Given the description of an element on the screen output the (x, y) to click on. 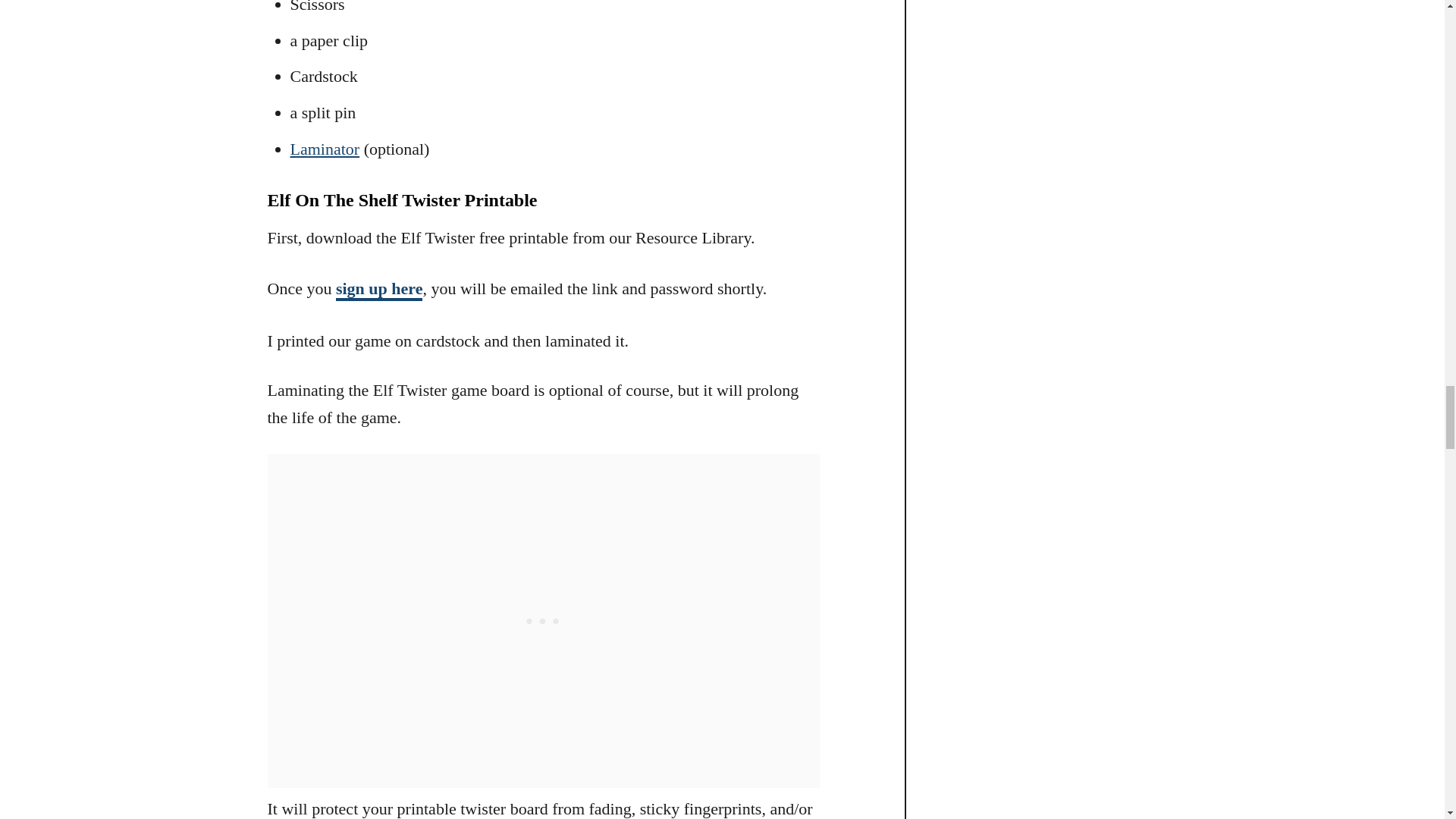
sign up here (379, 290)
Laminator (324, 148)
